Given the description of an element on the screen output the (x, y) to click on. 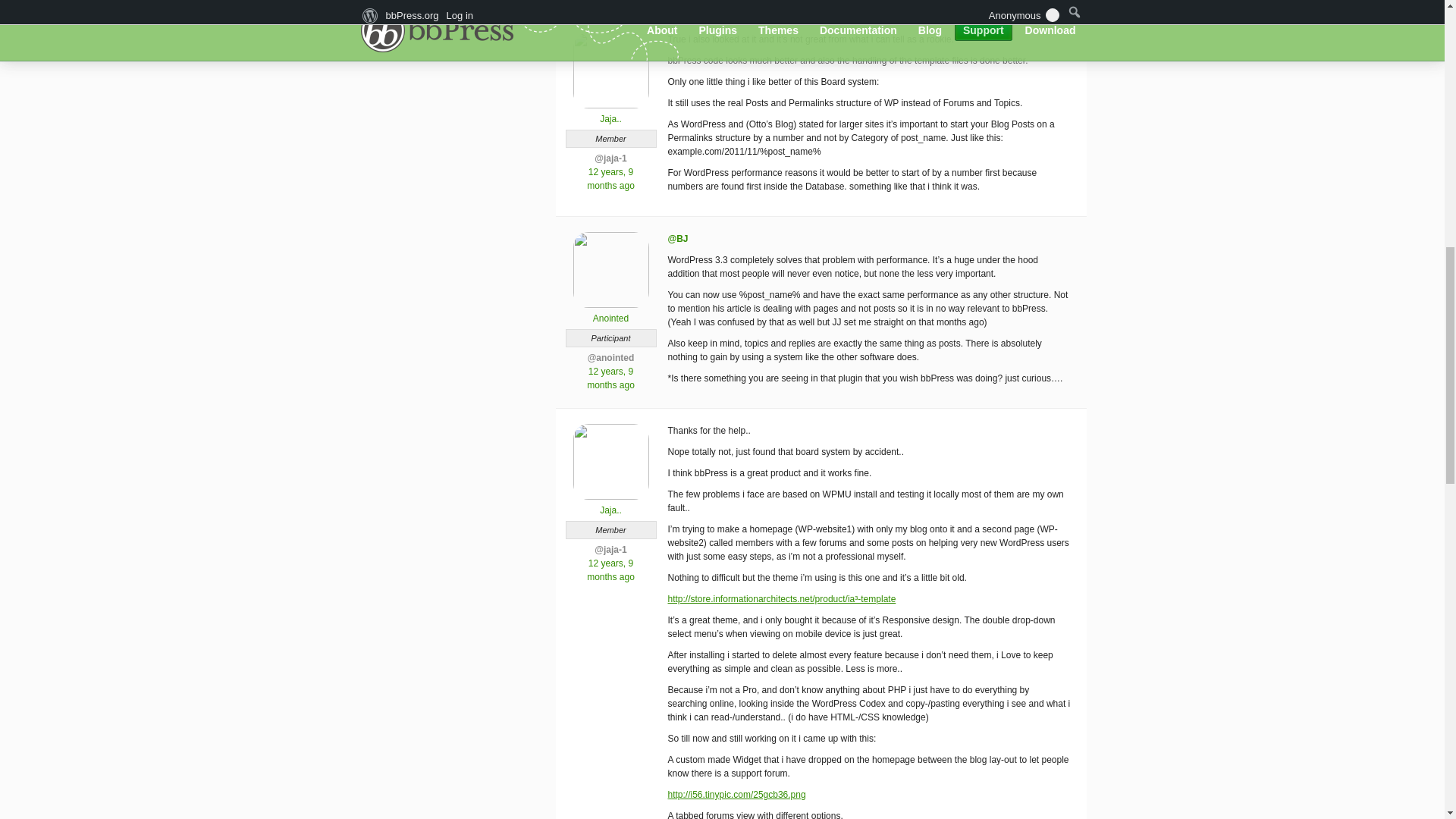
Anointed (609, 312)
12 years, 9 months ago (610, 378)
12 years, 9 months ago (610, 178)
Jaja.. (609, 503)
Jaja.. (609, 112)
12 years, 9 months ago (610, 569)
